Given the description of an element on the screen output the (x, y) to click on. 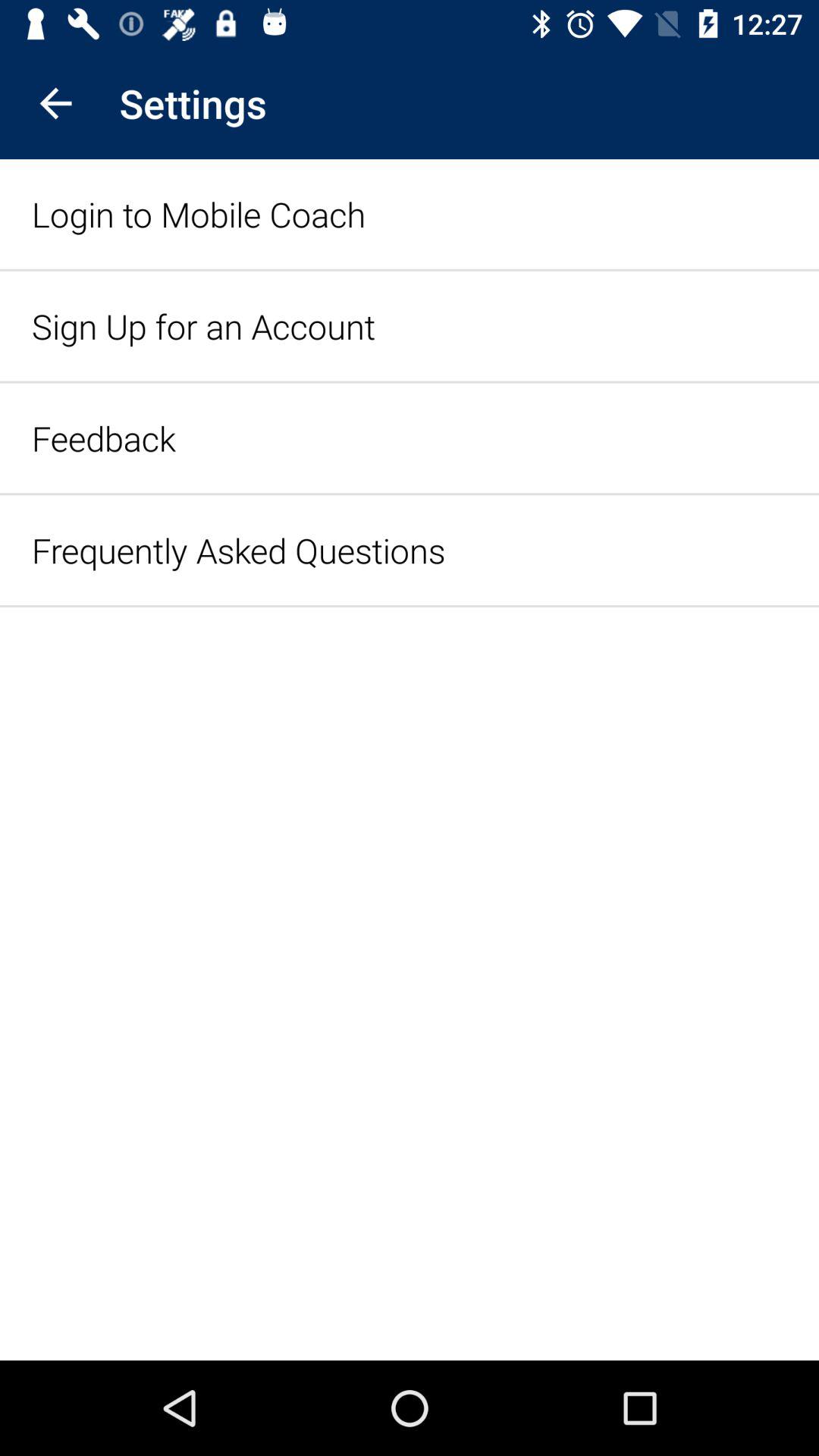
click the frequently asked questions icon (238, 550)
